Given the description of an element on the screen output the (x, y) to click on. 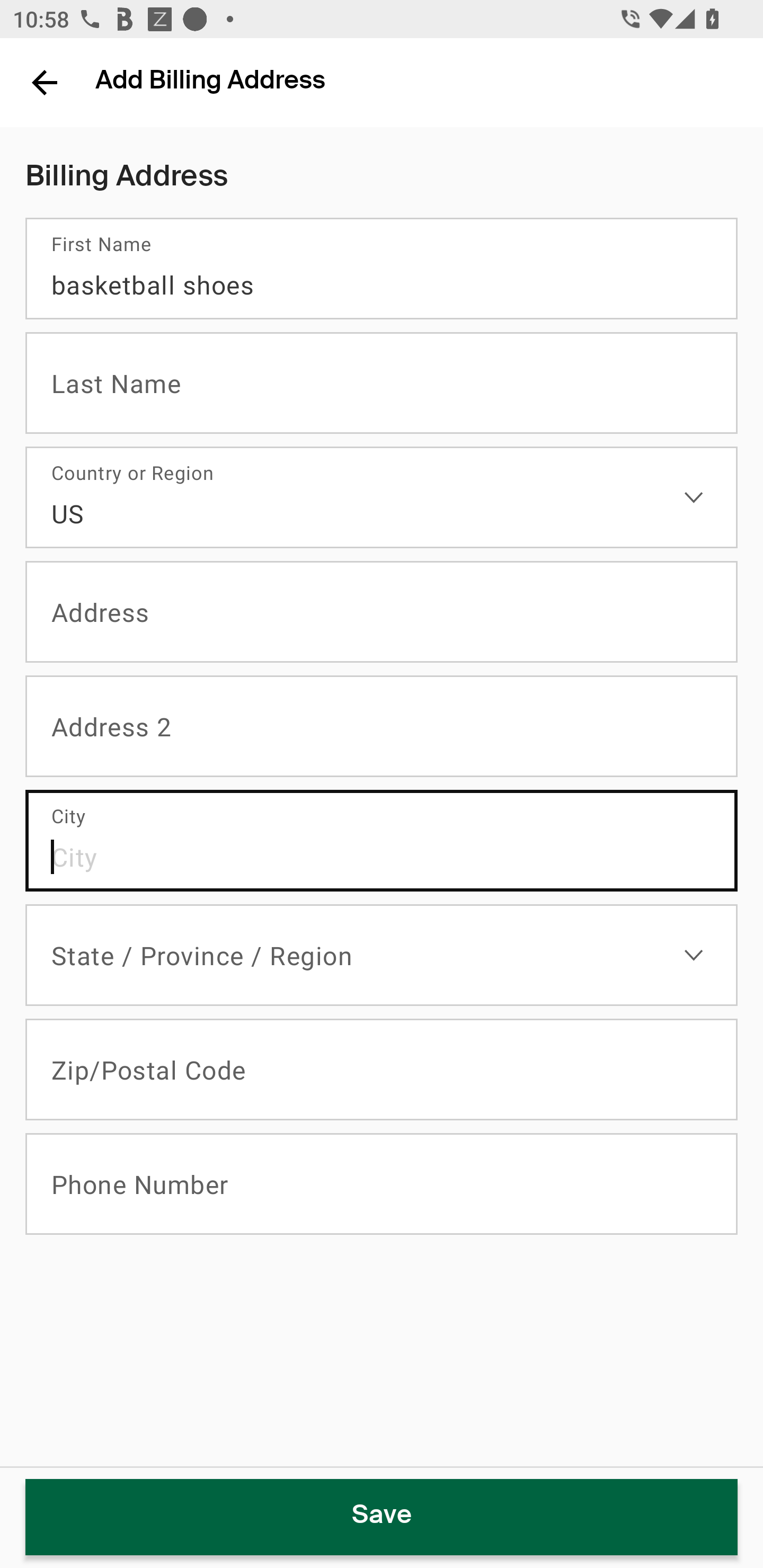
Navigate up (44, 82)
basketball shoes
 First Name (381, 268)
Last Name (381, 383)
Address (381, 612)
Address 2 (381, 726)
City (381, 841)
Zip/Postal Code (381, 1070)
Phone Number (381, 1184)
Save (381, 1516)
